Given the description of an element on the screen output the (x, y) to click on. 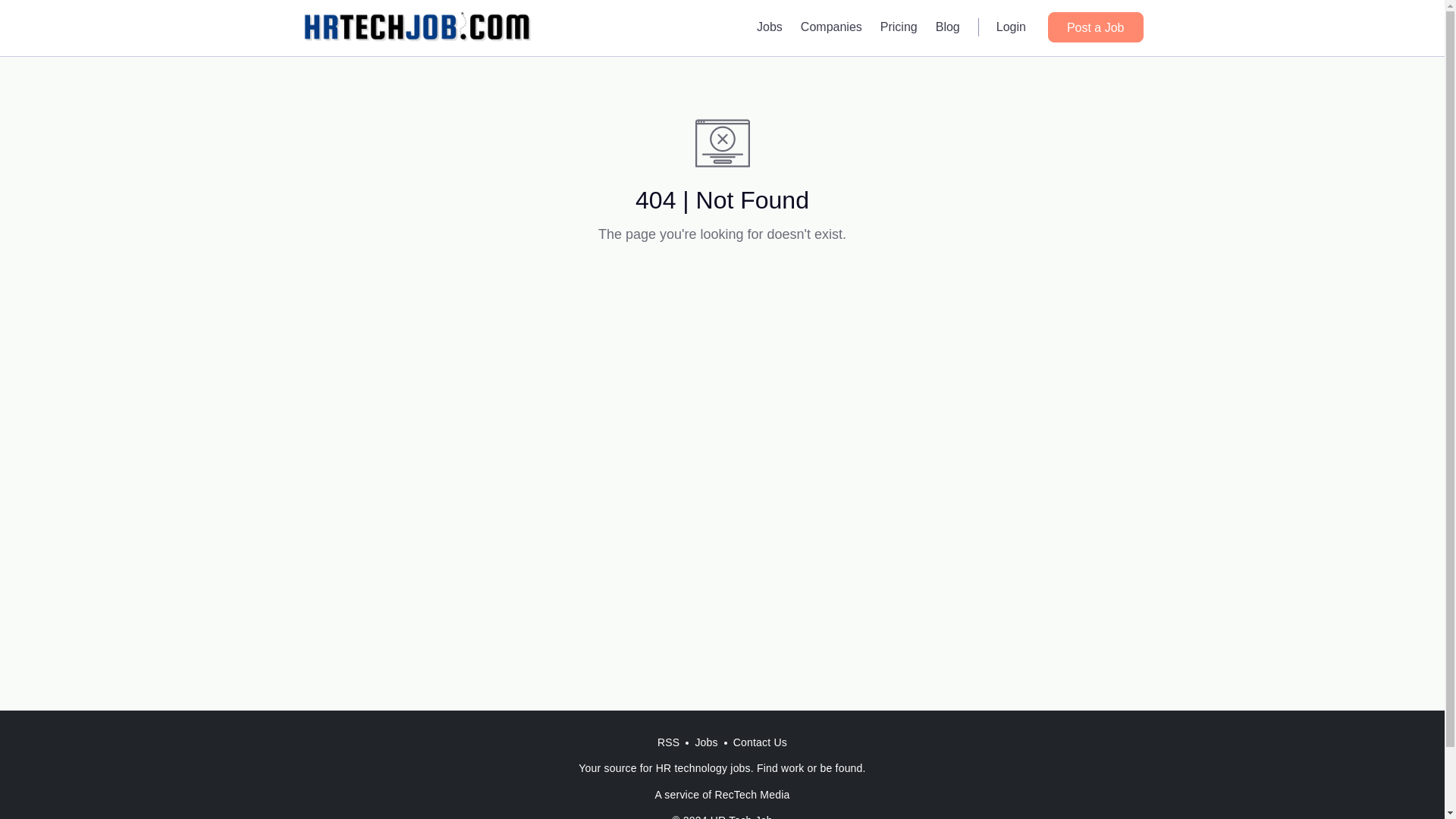
RecTech Media (751, 794)
Post a Job (1095, 27)
RSS (668, 742)
Blog (947, 26)
Contact Us (759, 742)
Jobs (706, 742)
Jobs (770, 26)
Companies (831, 26)
Login (1011, 26)
Pricing (898, 26)
